Given the description of an element on the screen output the (x, y) to click on. 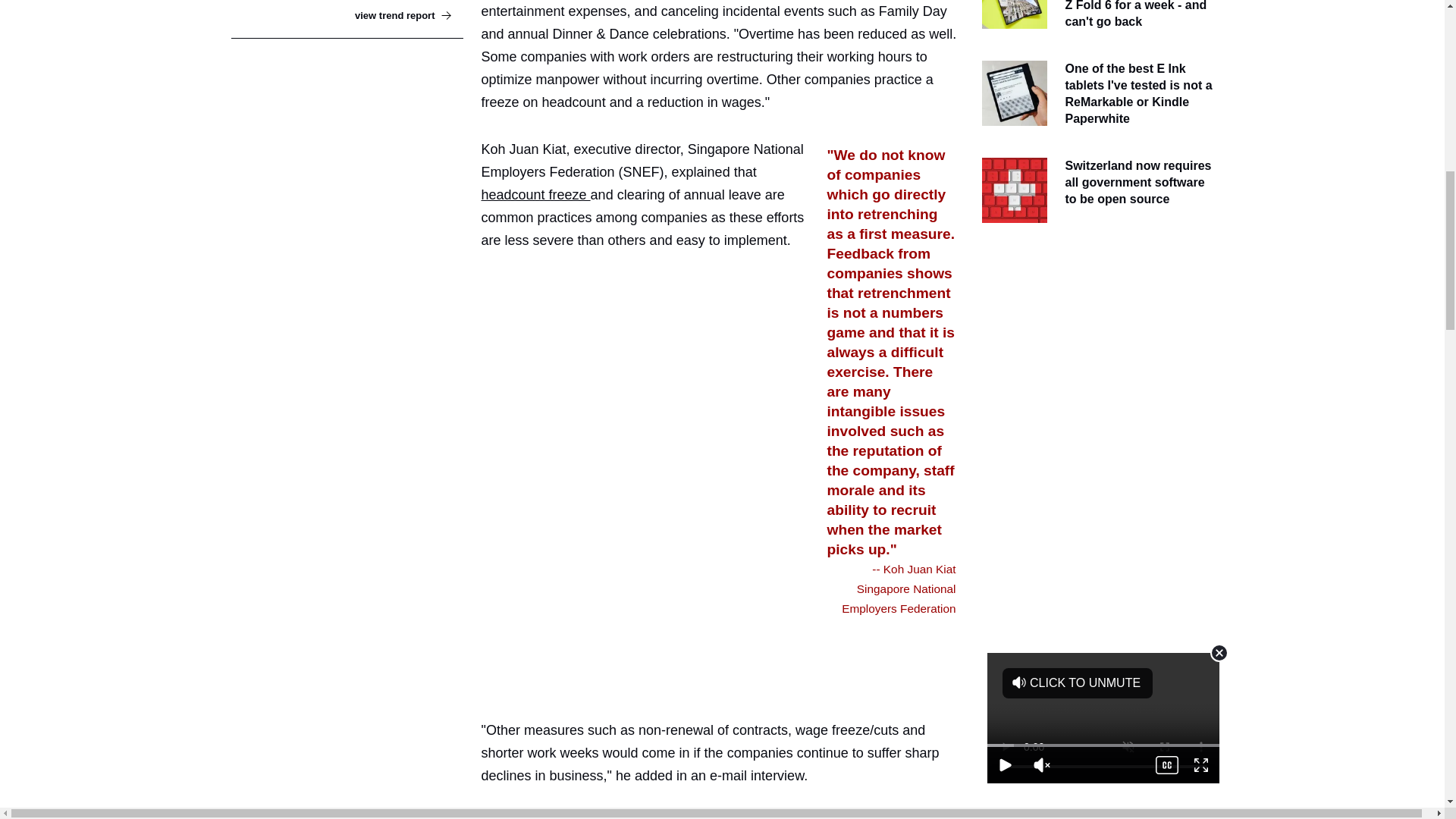
3rd party ad content (727, 660)
